Given the description of an element on the screen output the (x, y) to click on. 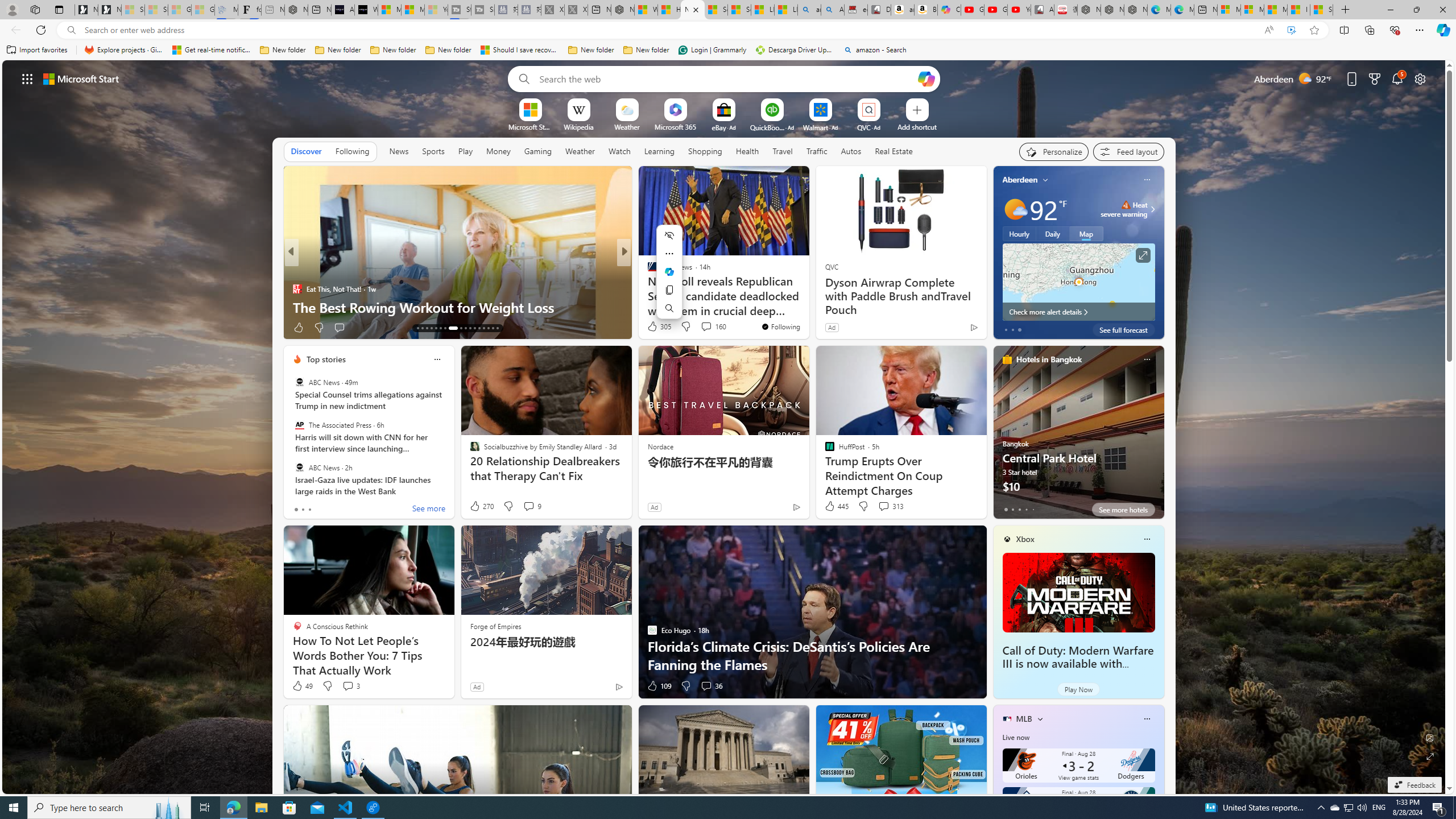
Microsoft Start Sports (389, 9)
305 Like (658, 326)
amazon - Search (809, 9)
Close (1442, 9)
More options (1146, 718)
View comments 6 Comment (705, 327)
Enhance video (1291, 29)
Login | Grammarly (712, 49)
Larger map  (1077, 282)
AutomationID: tab-17 (435, 328)
Mostly sunny (1014, 208)
Dislike (685, 685)
Wildlife - MSN (645, 9)
